Given the description of an element on the screen output the (x, y) to click on. 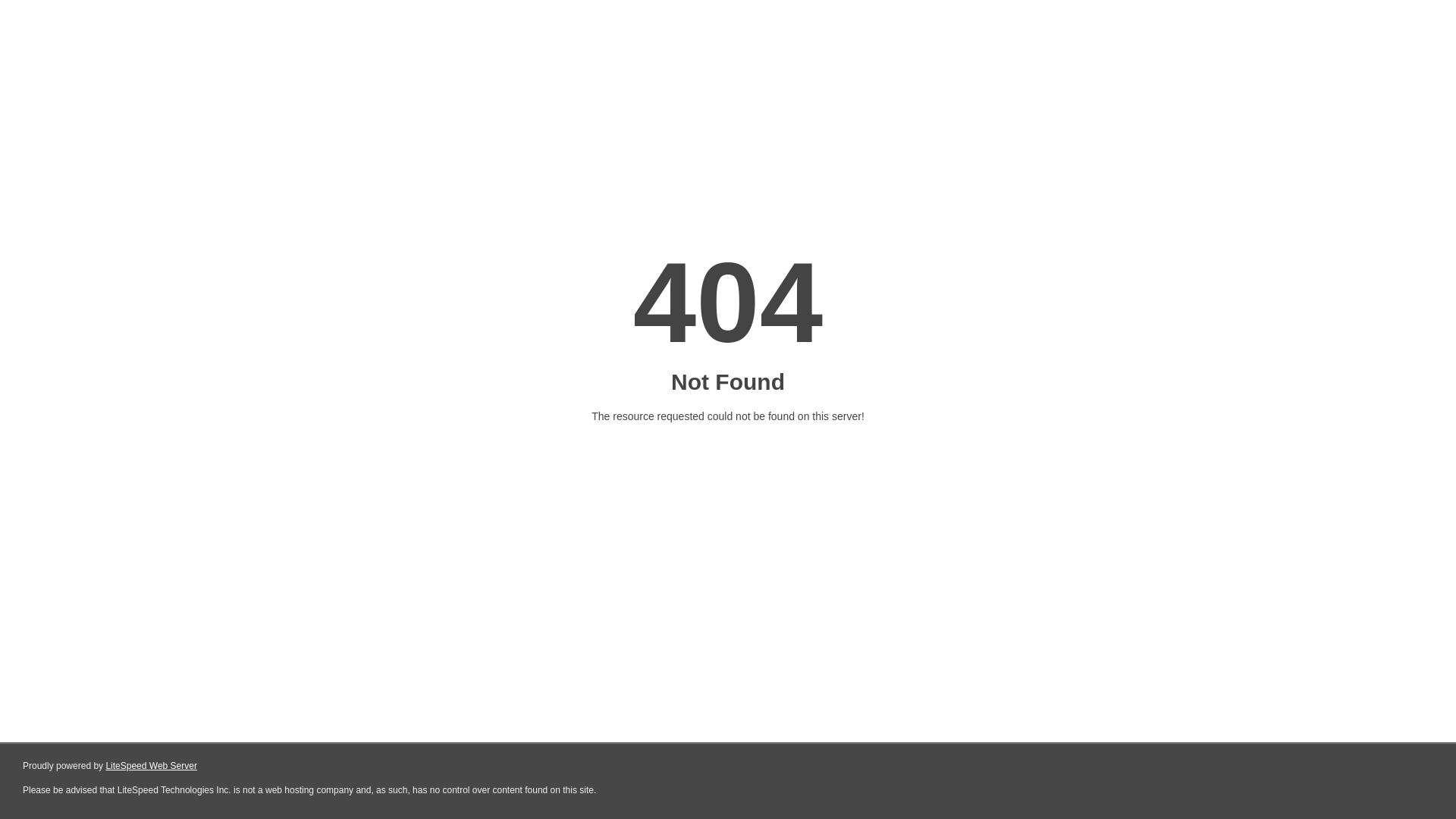
LiteSpeed Web Server Element type: text (151, 765)
